Given the description of an element on the screen output the (x, y) to click on. 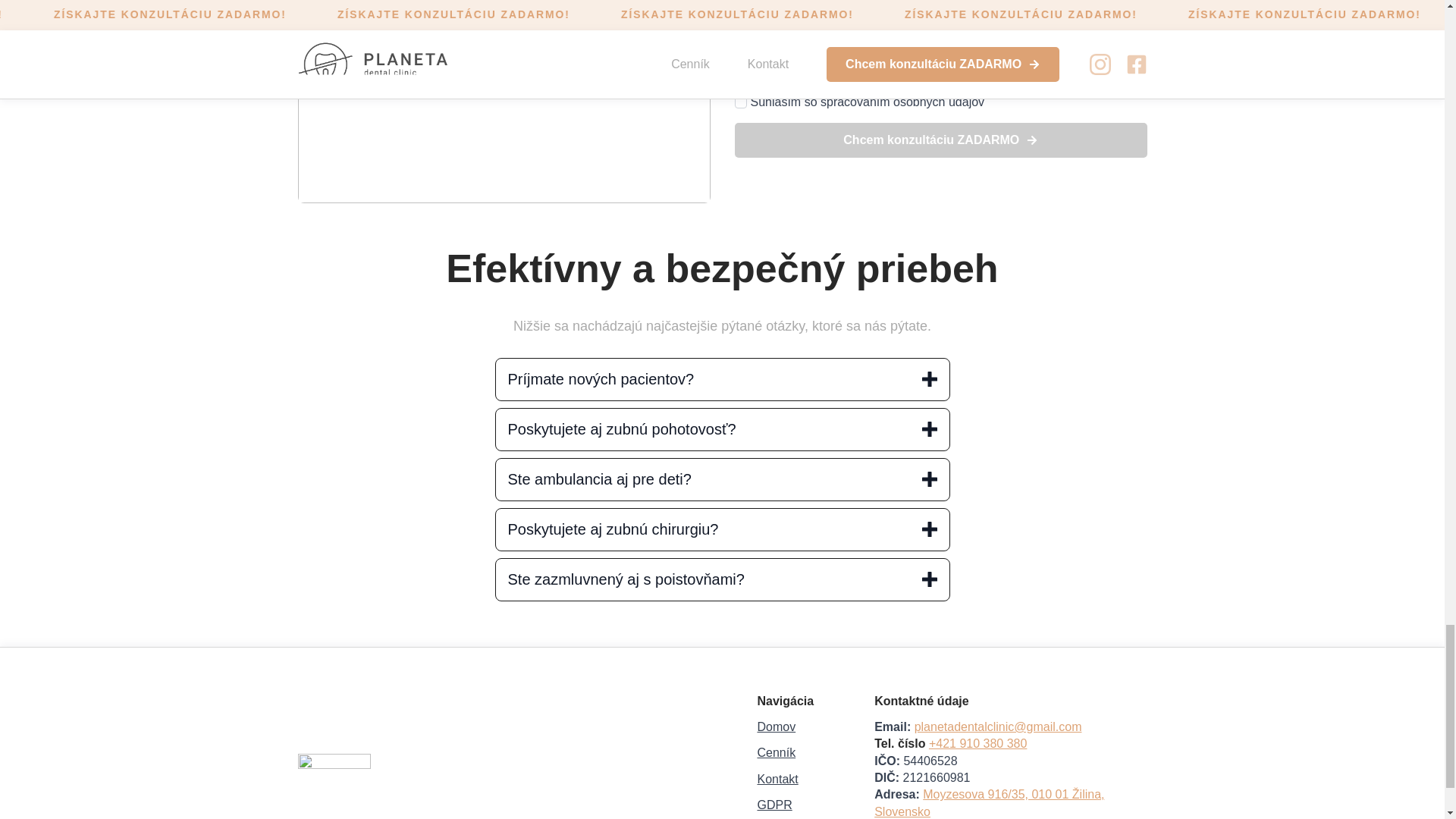
GDPR (774, 805)
Kontakt (777, 779)
Domov (775, 727)
Ste ambulancia aj pre deti? (722, 479)
